Given the description of an element on the screen output the (x, y) to click on. 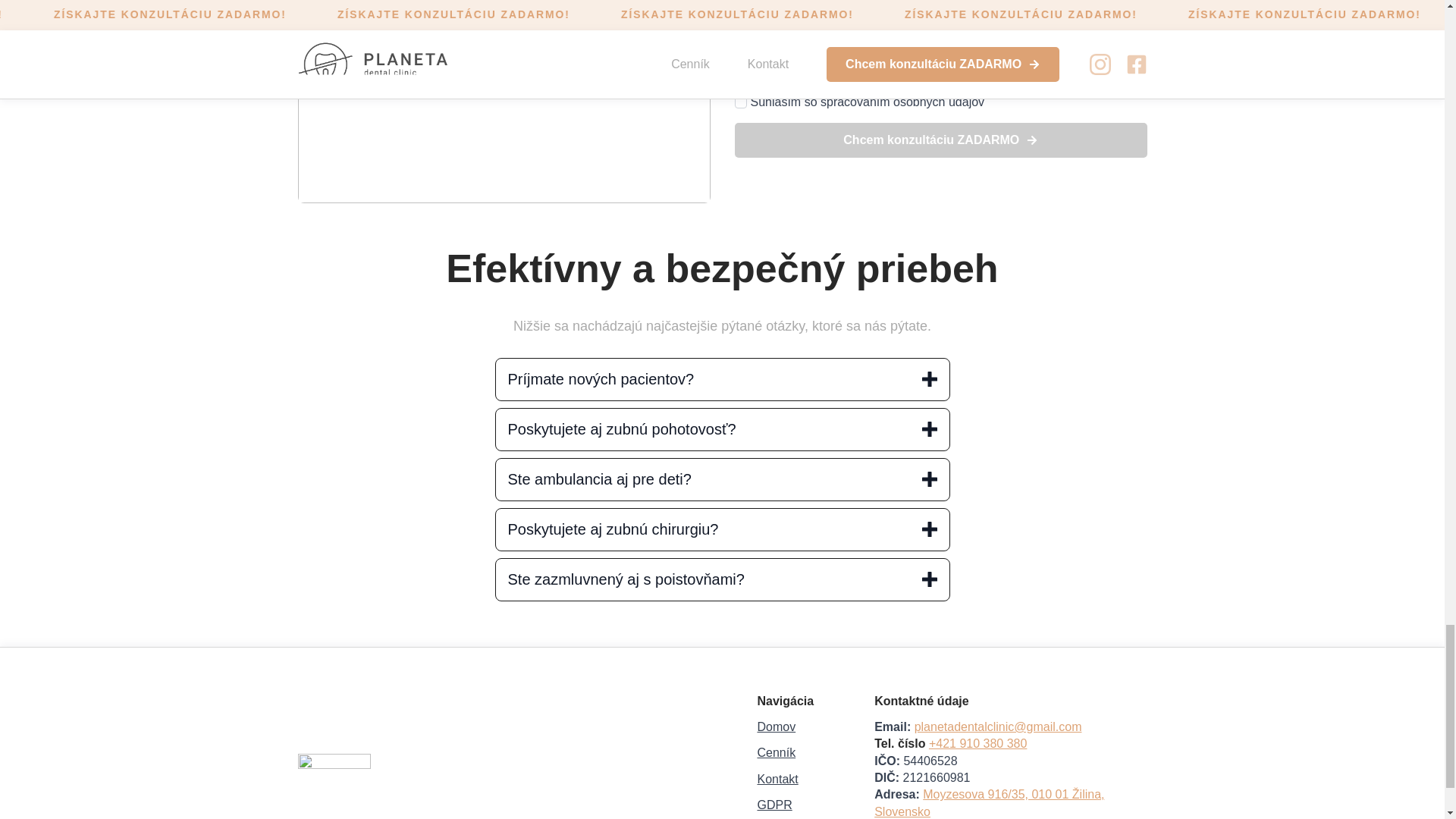
GDPR (774, 805)
Kontakt (777, 779)
Domov (775, 727)
Ste ambulancia aj pre deti? (722, 479)
